Given the description of an element on the screen output the (x, y) to click on. 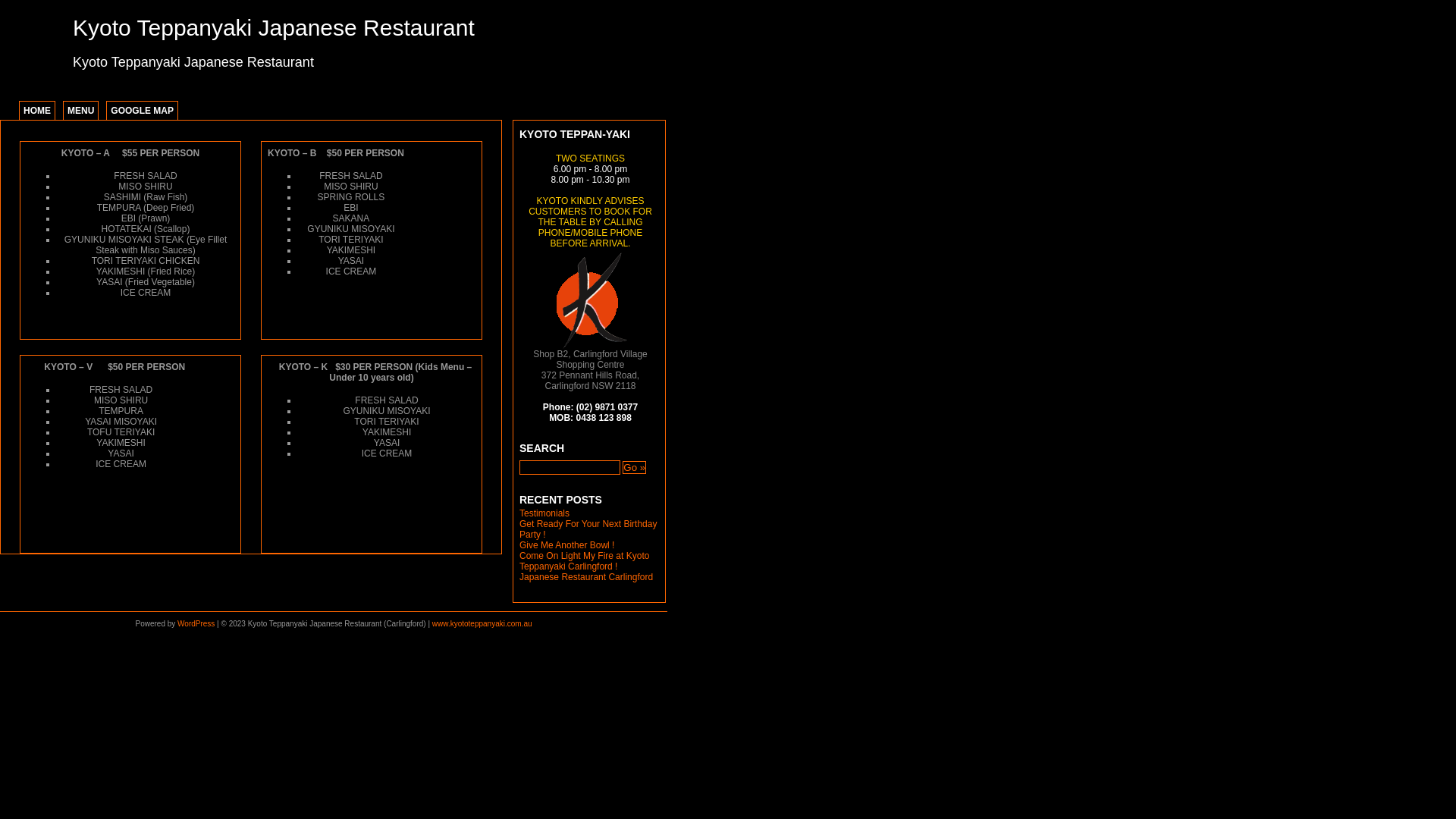
Give Me Another Bowl ! Element type: text (566, 544)
Testimonials Element type: text (544, 513)
WordPress Element type: text (195, 623)
Kyoto Teppanyaki Japanese Restaurant Element type: text (273, 27)
MENU Element type: text (80, 109)
Get Ready For Your Next Birthday Party ! Element type: text (587, 528)
Japanese Restaurant Carlingford Element type: text (585, 576)
GOOGLE MAP Element type: text (142, 109)
Come On Light My Fire at Kyoto Teppanyaki Carlingford ! Element type: text (584, 560)
www.kyototeppanyaki.com.au Element type: text (482, 623)
HOME Element type: text (36, 109)
